Given the description of an element on the screen output the (x, y) to click on. 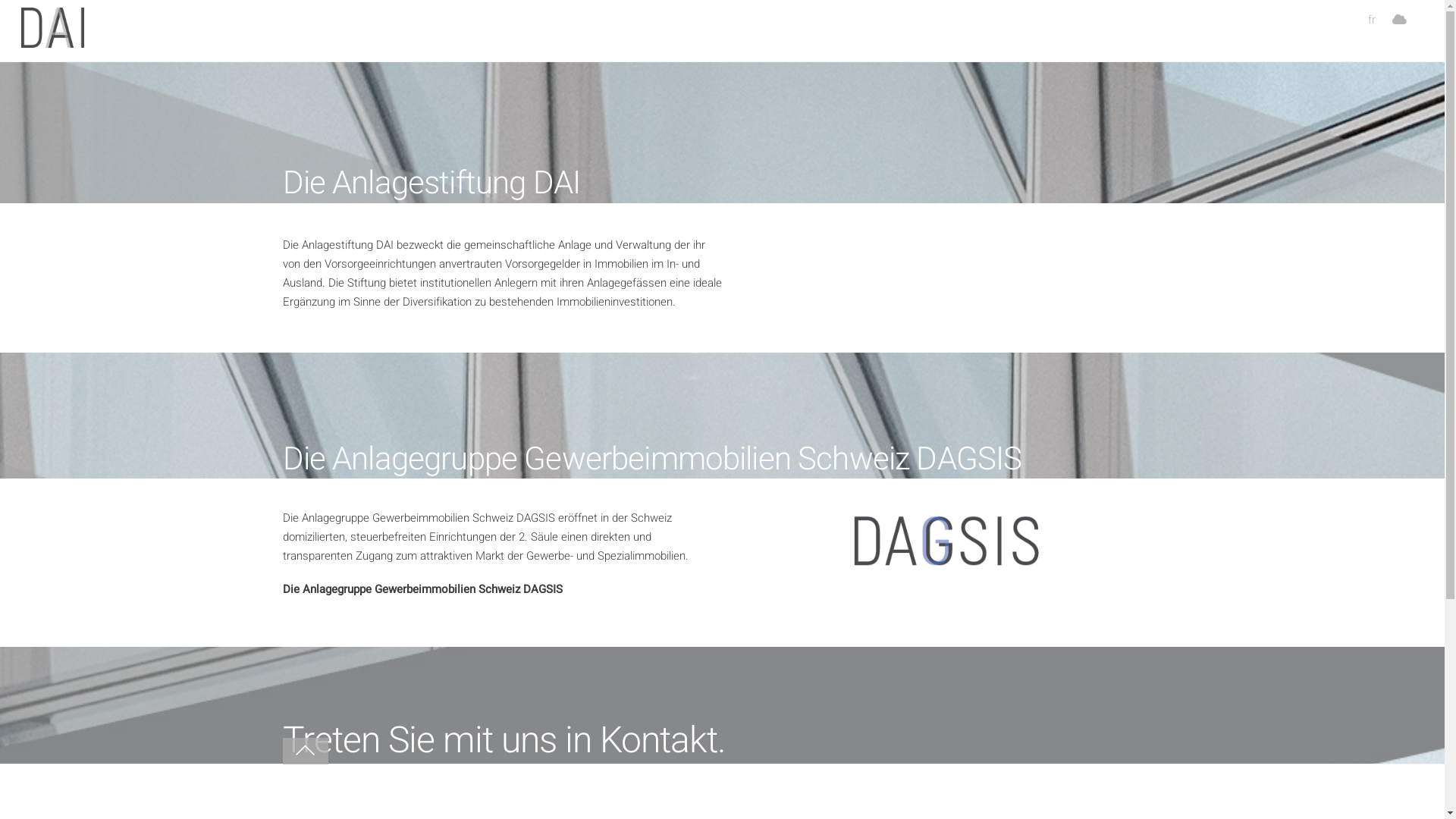
Anlagestiftungdai Element type: hover (52, 41)
fr Element type: text (1370, 19)
Die Anlagegruppe Gewerbeimmobilien Schweiz DAGSIS Element type: text (421, 588)
Anlagestiftungdai Element type: hover (52, 27)
